Given the description of an element on the screen output the (x, y) to click on. 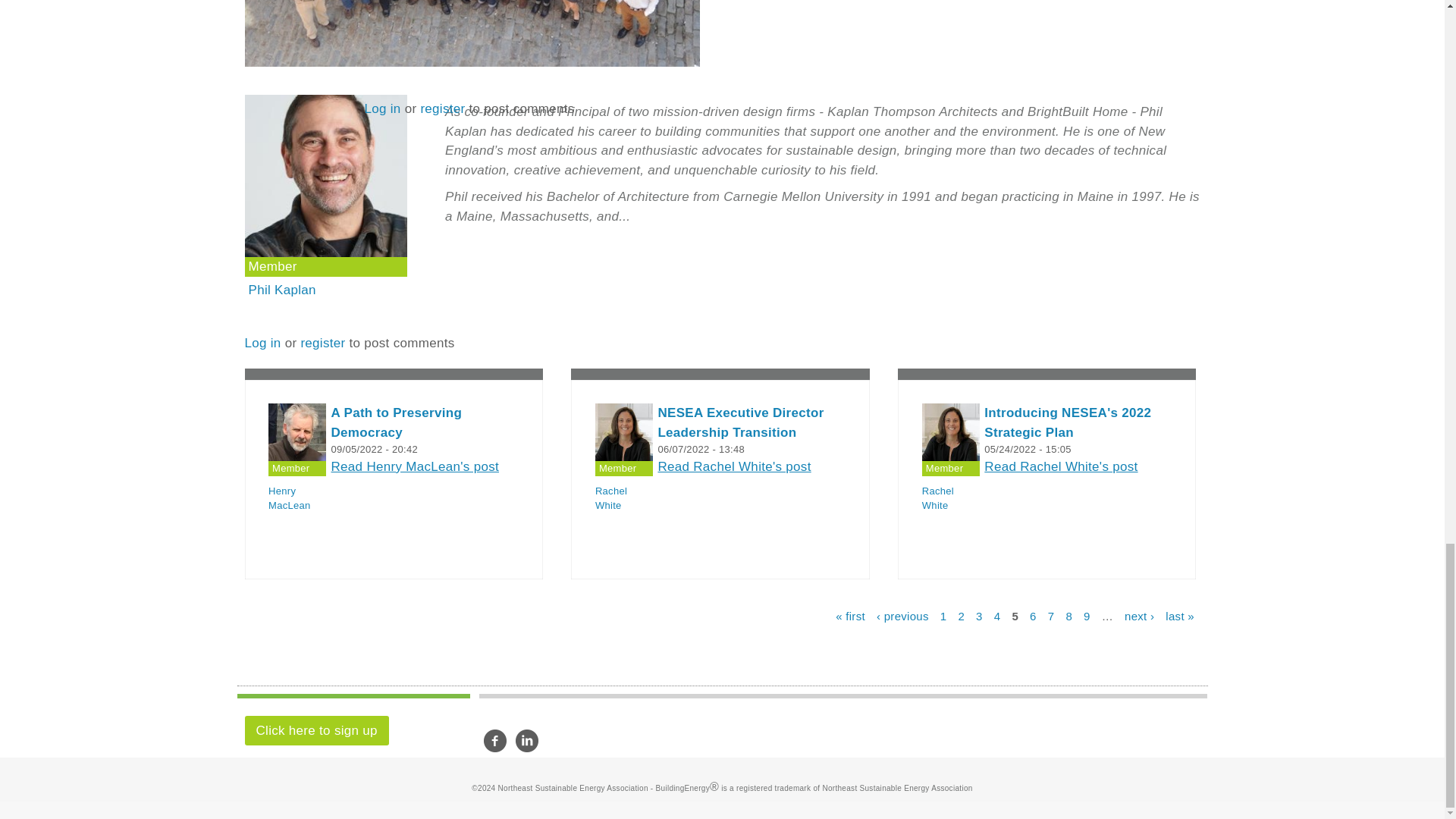
Go to last page (1179, 615)
Go to previous page (902, 615)
Go to next page (1139, 615)
Go to first page (849, 615)
